Given the description of an element on the screen output the (x, y) to click on. 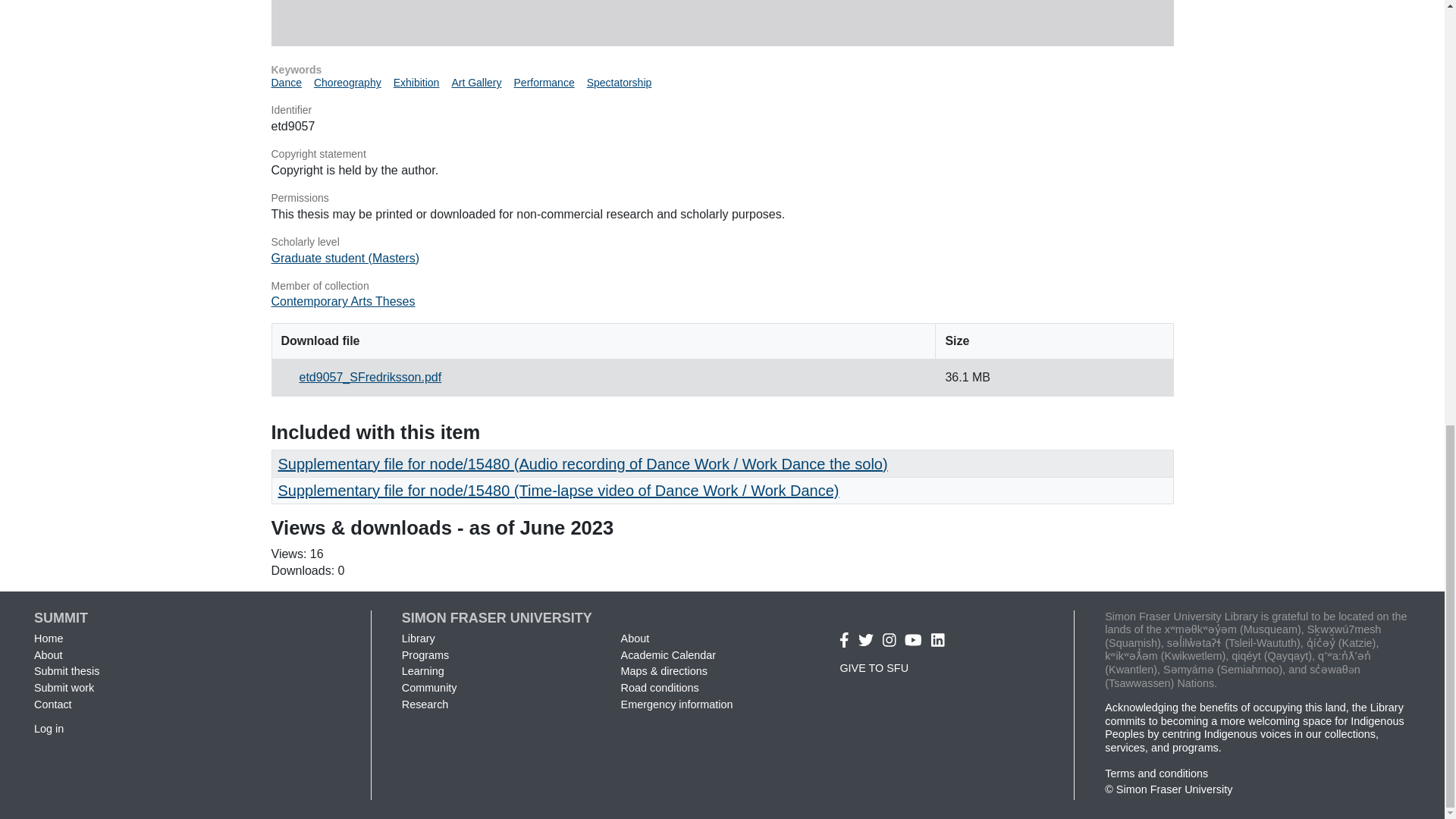
Submit work (63, 687)
Member of collection (721, 286)
Contemporary Arts Theses (342, 300)
Spectatorship (619, 82)
Copyright statement (721, 154)
Log in (48, 728)
Identifier (721, 110)
Choreography (347, 82)
Scholarly level (721, 242)
Submit thesis (66, 671)
